Given the description of an element on the screen output the (x, y) to click on. 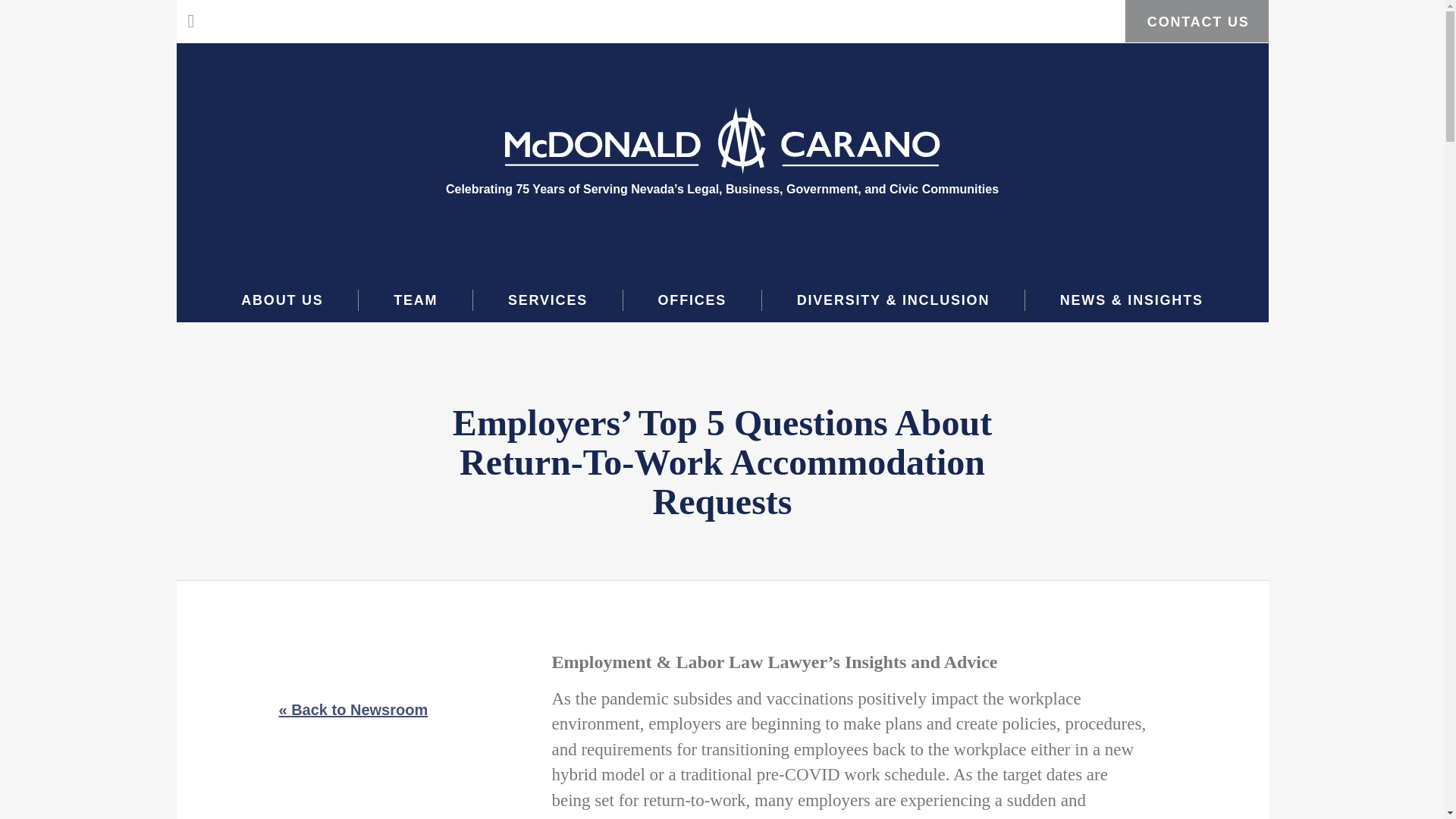
ABOUT US (282, 300)
OFFICES (692, 300)
SERVICES (548, 300)
TEAM (415, 300)
Kristen Gallagher (970, 817)
CONTACT US (1196, 21)
